Given the description of an element on the screen output the (x, y) to click on. 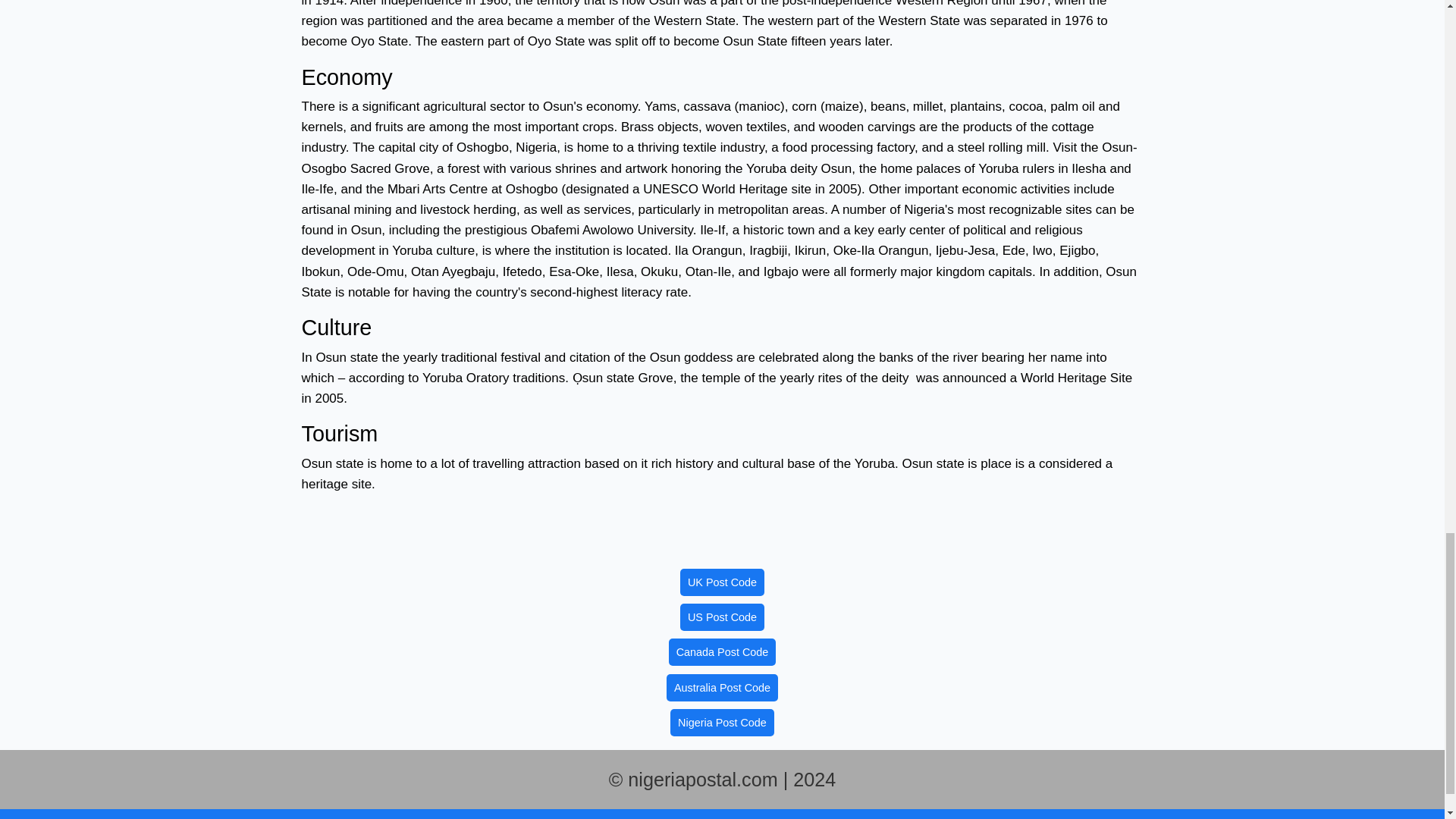
Canada Post Code (722, 651)
Australia Post Code (721, 687)
Nigeria Post Code (721, 722)
UK Post Code (721, 582)
US Post Code (721, 616)
